Given the description of an element on the screen output the (x, y) to click on. 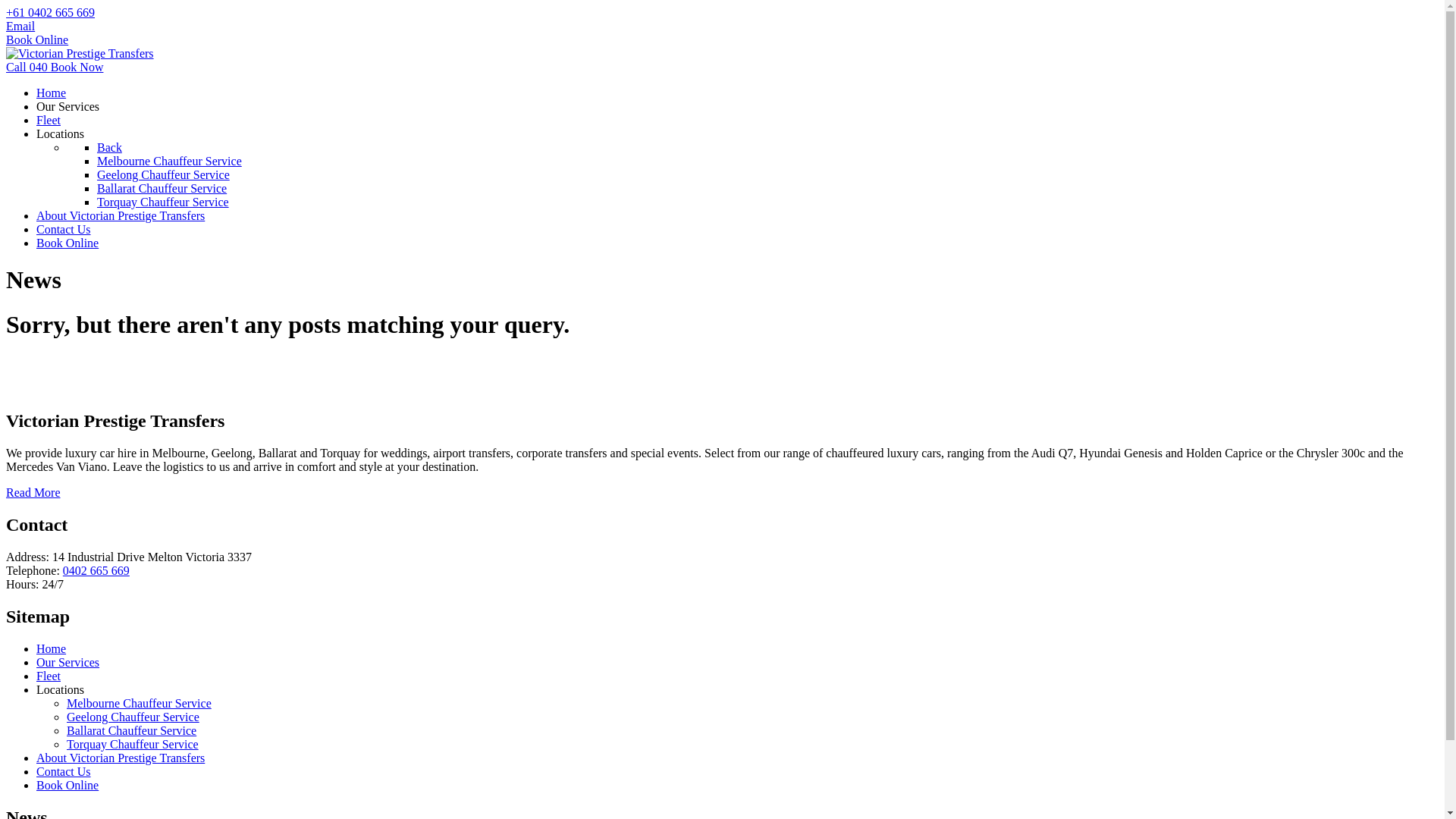
About Victorian Prestige Transfers Element type: text (120, 757)
0402 665 669 Element type: text (95, 570)
Ballarat Chauffeur Service Element type: text (131, 730)
About Victorian Prestige Transfers Element type: text (120, 215)
Book Online Element type: text (67, 784)
Contact Us Element type: text (63, 771)
+61 0402 665 669 Element type: text (50, 12)
Torquay Chauffeur Service Element type: text (132, 743)
Ballarat Chauffeur Service Element type: text (161, 188)
Back Element type: text (109, 147)
Home Element type: text (50, 648)
Melbourne Chauffeur Service Element type: text (169, 160)
Book Online Element type: text (67, 242)
Fleet Element type: text (48, 119)
Torquay Chauffeur Service Element type: text (163, 201)
Geelong Chauffeur Service Element type: text (132, 716)
Home Element type: text (50, 92)
Locations Element type: text (60, 689)
Our Services Element type: text (67, 661)
Email Element type: text (20, 25)
Victorian Prestige Transfers Element type: hover (79, 53)
Contact Us Element type: text (63, 228)
Melbourne Chauffeur Service Element type: text (138, 702)
Geelong Chauffeur Service Element type: text (163, 174)
Fleet Element type: text (48, 675)
Call 040 Book Now Element type: text (54, 66)
Read More Element type: text (33, 492)
Book Online Element type: text (37, 39)
